Given the description of an element on the screen output the (x, y) to click on. 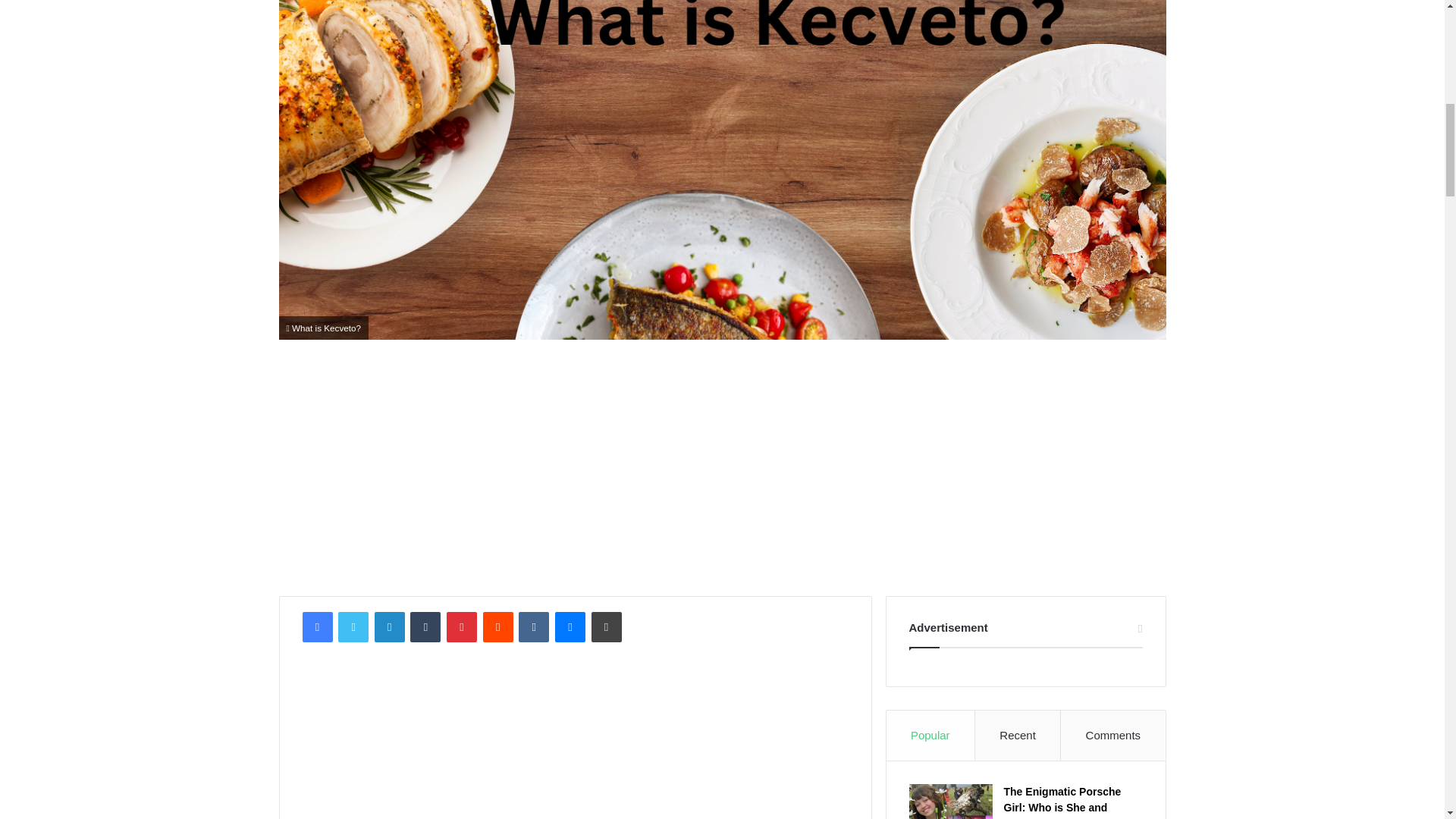
Twitter (352, 626)
Twitter (352, 626)
LinkedIn (389, 626)
Tumblr (425, 626)
Messenger (569, 626)
VKontakte (533, 626)
Tumblr (425, 626)
Facebook (316, 626)
LinkedIn (389, 626)
VKontakte (533, 626)
Pinterest (461, 626)
Reddit (498, 626)
Print (606, 626)
Pinterest (461, 626)
Reddit (498, 626)
